Given the description of an element on the screen output the (x, y) to click on. 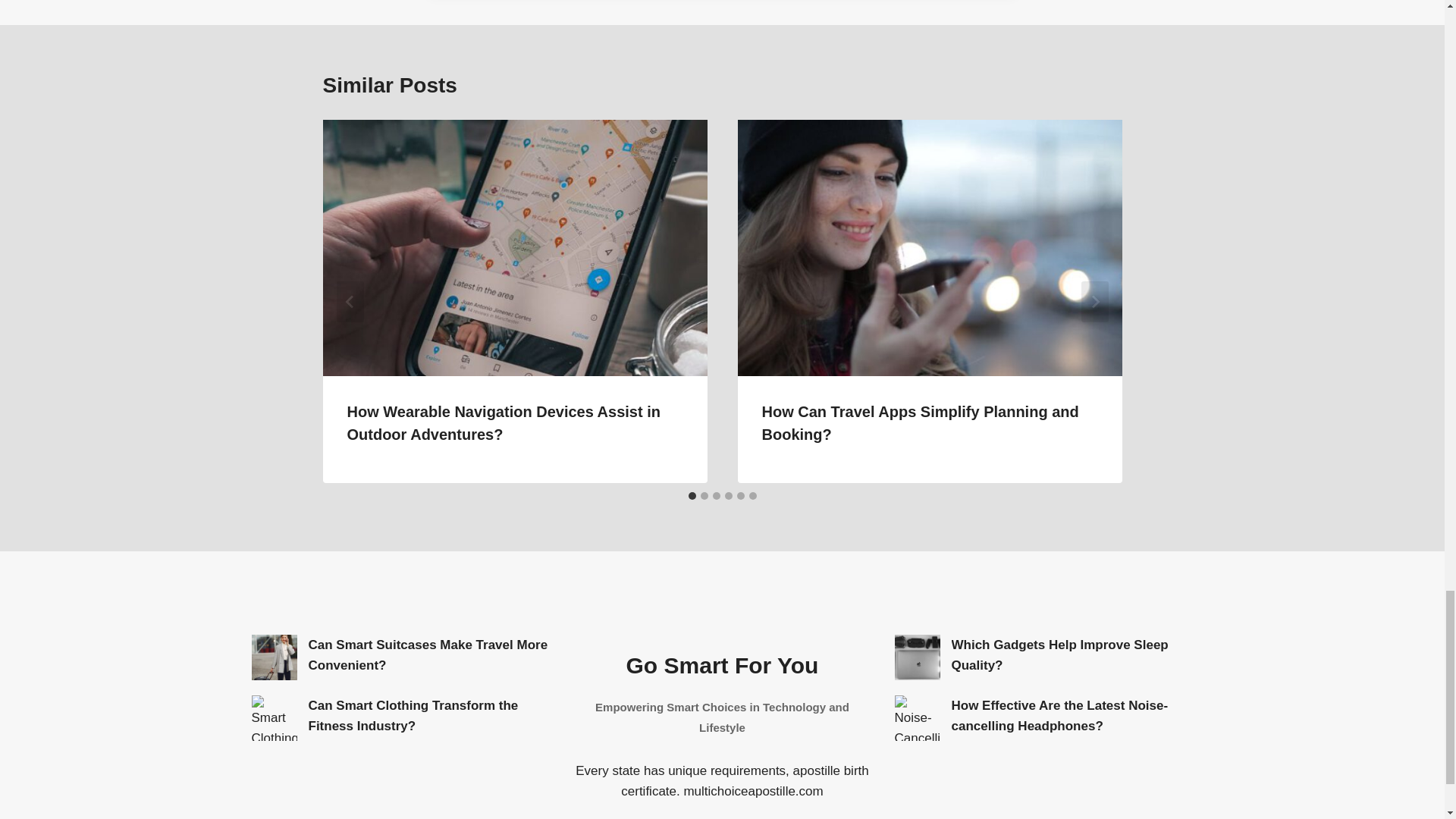
Can Smart Clothing Transform the Fitness Industry? (274, 718)
Which Gadgets Help Improve Sleep Quality? (917, 657)
Can Smart Suitcases Make Travel More Convenient? (274, 657)
How Can Travel Apps Simplify Planning and Booking? (919, 423)
How Effective Are the Latest Noise-cancelling Headphones? (917, 718)
